Given the description of an element on the screen output the (x, y) to click on. 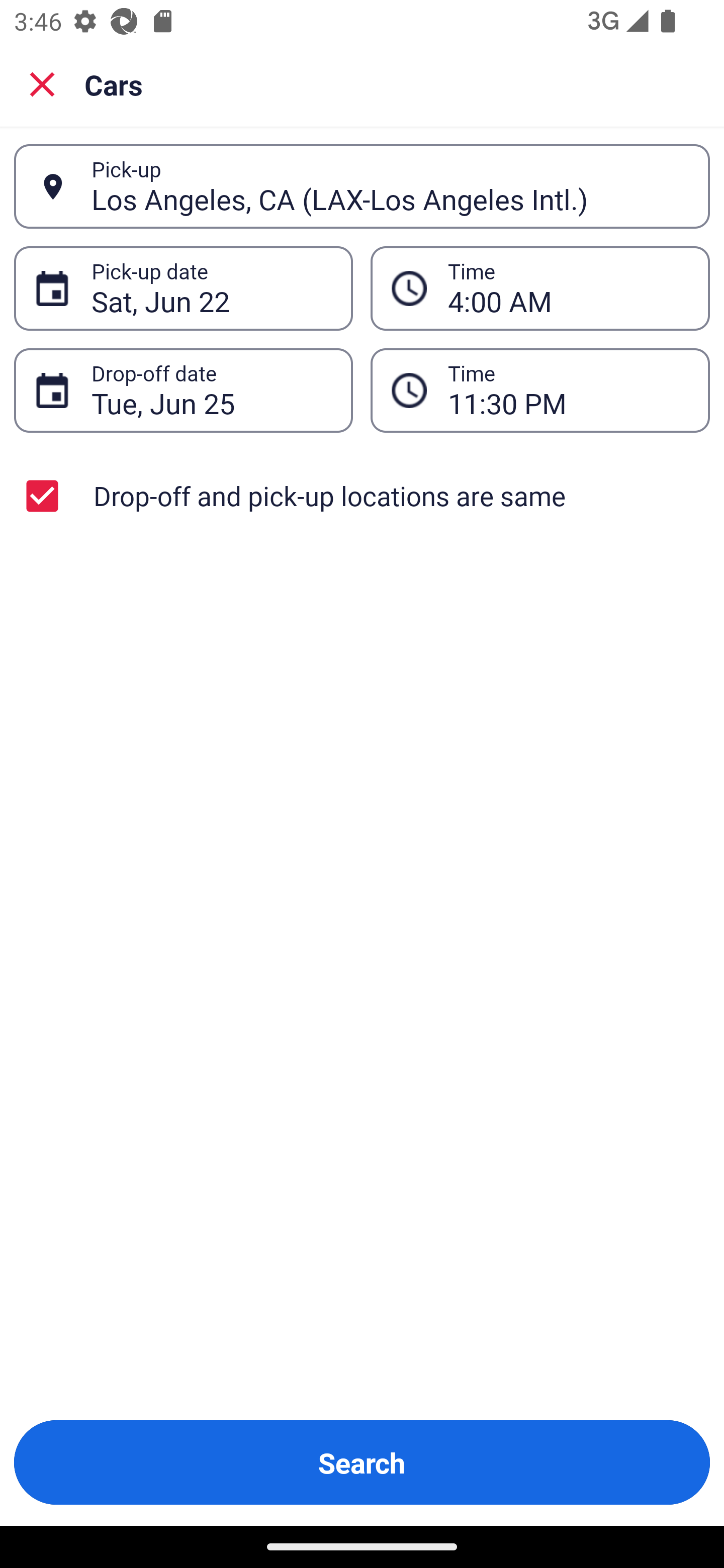
Close search screen (41, 83)
Los Angeles, CA (LAX-Los Angeles Intl.) Pick-up (361, 186)
Los Angeles, CA (LAX-Los Angeles Intl.) (389, 186)
Sat, Jun 22 Pick-up date (183, 288)
4:00 AM (540, 288)
Sat, Jun 22 (211, 288)
4:00 AM (568, 288)
Tue, Jun 25 Drop-off date (183, 390)
11:30 PM (540, 390)
Tue, Jun 25 (211, 390)
11:30 PM (568, 390)
Drop-off and pick-up locations are same (361, 495)
Search Button Search (361, 1462)
